Given the description of an element on the screen output the (x, y) to click on. 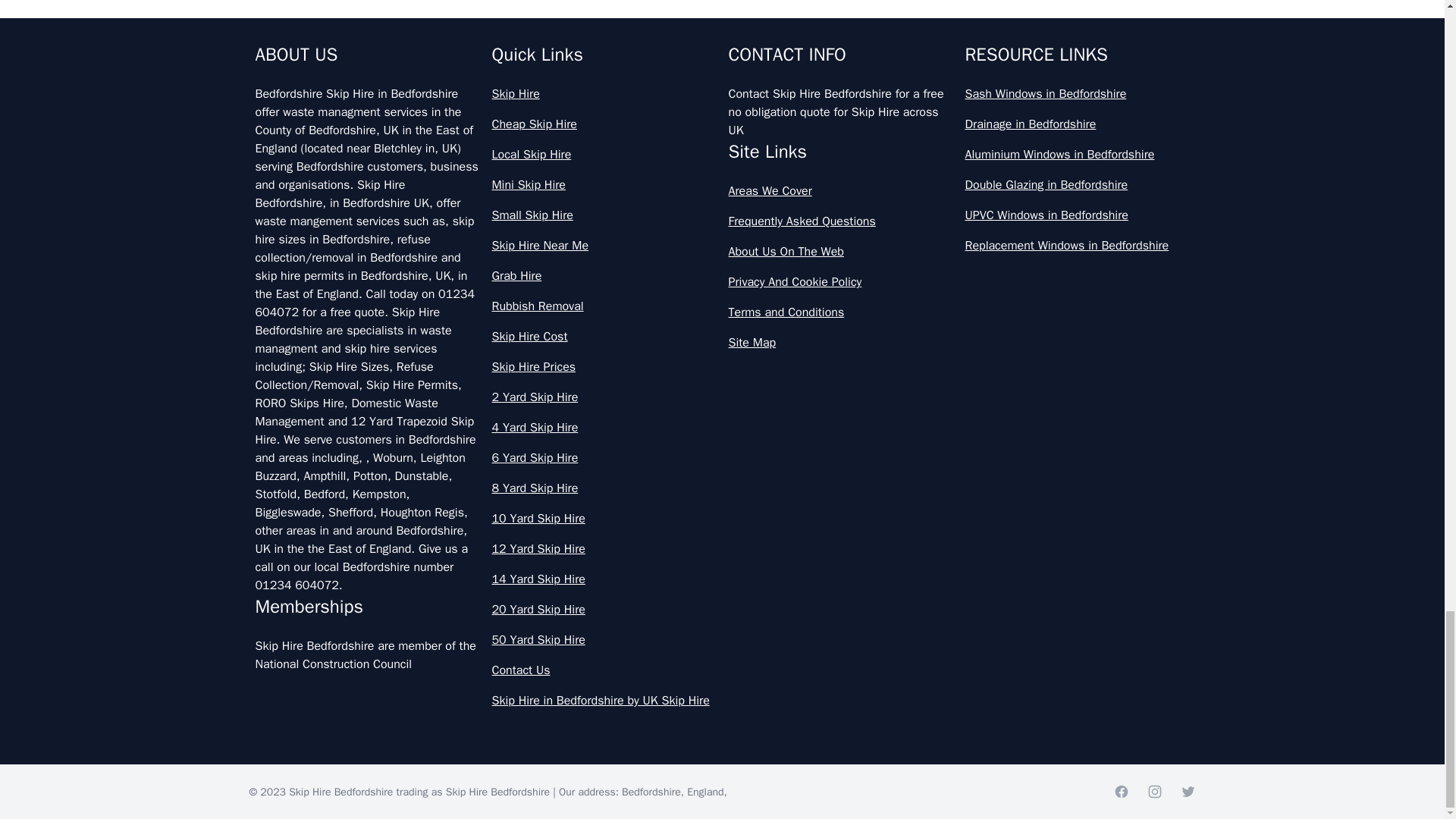
How Much Do Skip Cost To Hire In Bedfordshire (722, 102)
How Much Does A Midi Skip Cost To Hire In Bedfordshire (722, 636)
How Much Does A Skip Cost To Hire In Bedfordshire (722, 770)
How Much Does A 6 Yard Skip Cost To Hire In Bedfordshire (722, 503)
Replacement Windows in Bedfordshire (1076, 245)
Skip Hire in Bedfordshire by UK Skip Hire (604, 700)
How Much Does A 2 Yard Skip Cost To Hire In Bedfordshire (722, 303)
How Much Do Skips Cost To Hire In Bedfordshire (722, 169)
Drainage in Bedfordshire (1076, 124)
How Much Do Skip Bins Cost To Hire In Bedfordshire (722, 36)
How Much Does A 3yd Skip Cost To Hire In Bedfordshire (722, 369)
Aluminium Windows in Bedfordshire (1076, 154)
Double Glazing in Bedfordshire (1076, 185)
How Much Do Skips Cost To Hire Near Me In Bedfordshire (722, 236)
How Much Does A Skip Bin Cost To Hire In Bedfordshire (722, 703)
